Given the description of an element on the screen output the (x, y) to click on. 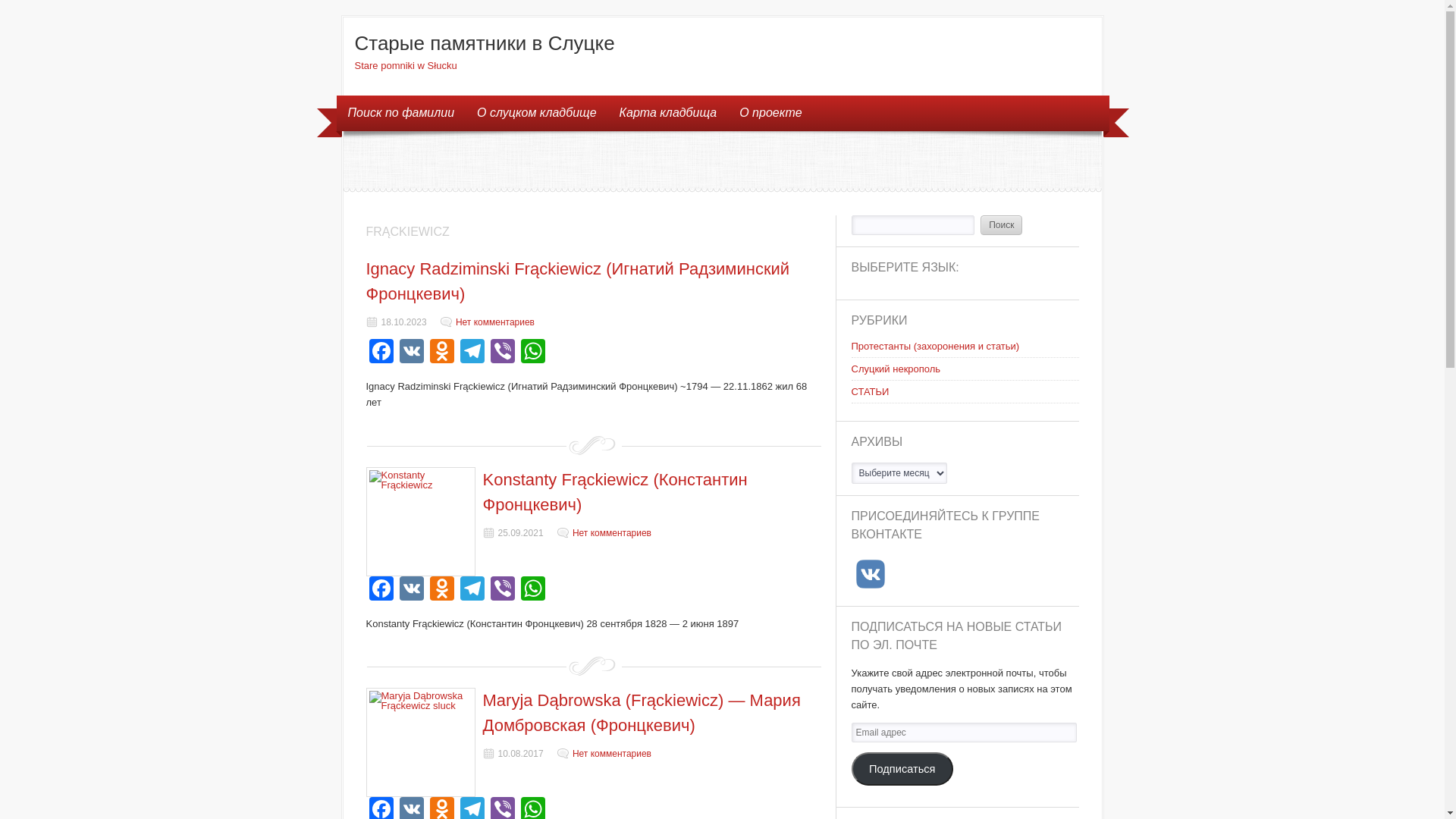
Facebook Element type: text (380, 352)
WhatsApp Element type: text (532, 590)
Facebook Element type: text (380, 590)
Odnoklassniki Element type: text (441, 352)
Viber Element type: text (501, 352)
Telegram Element type: text (471, 352)
Viber Element type: text (501, 590)
WhatsApp Element type: text (532, 352)
Telegram Element type: text (471, 590)
VK Element type: text (410, 590)
VK Element type: text (410, 352)
Odnoklassniki Element type: text (441, 590)
